Given the description of an element on the screen output the (x, y) to click on. 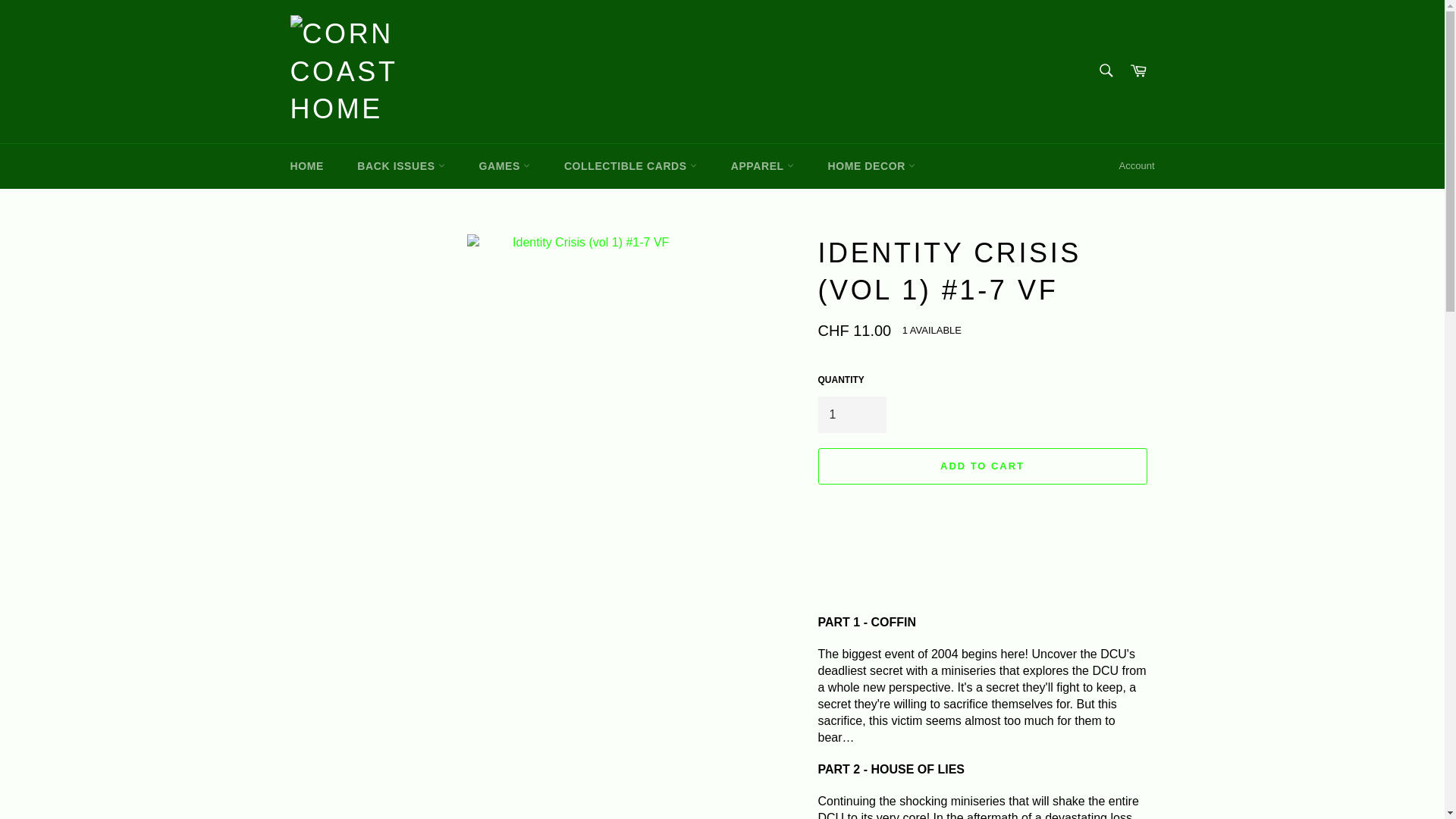
1 (850, 414)
